Given the description of an element on the screen output the (x, y) to click on. 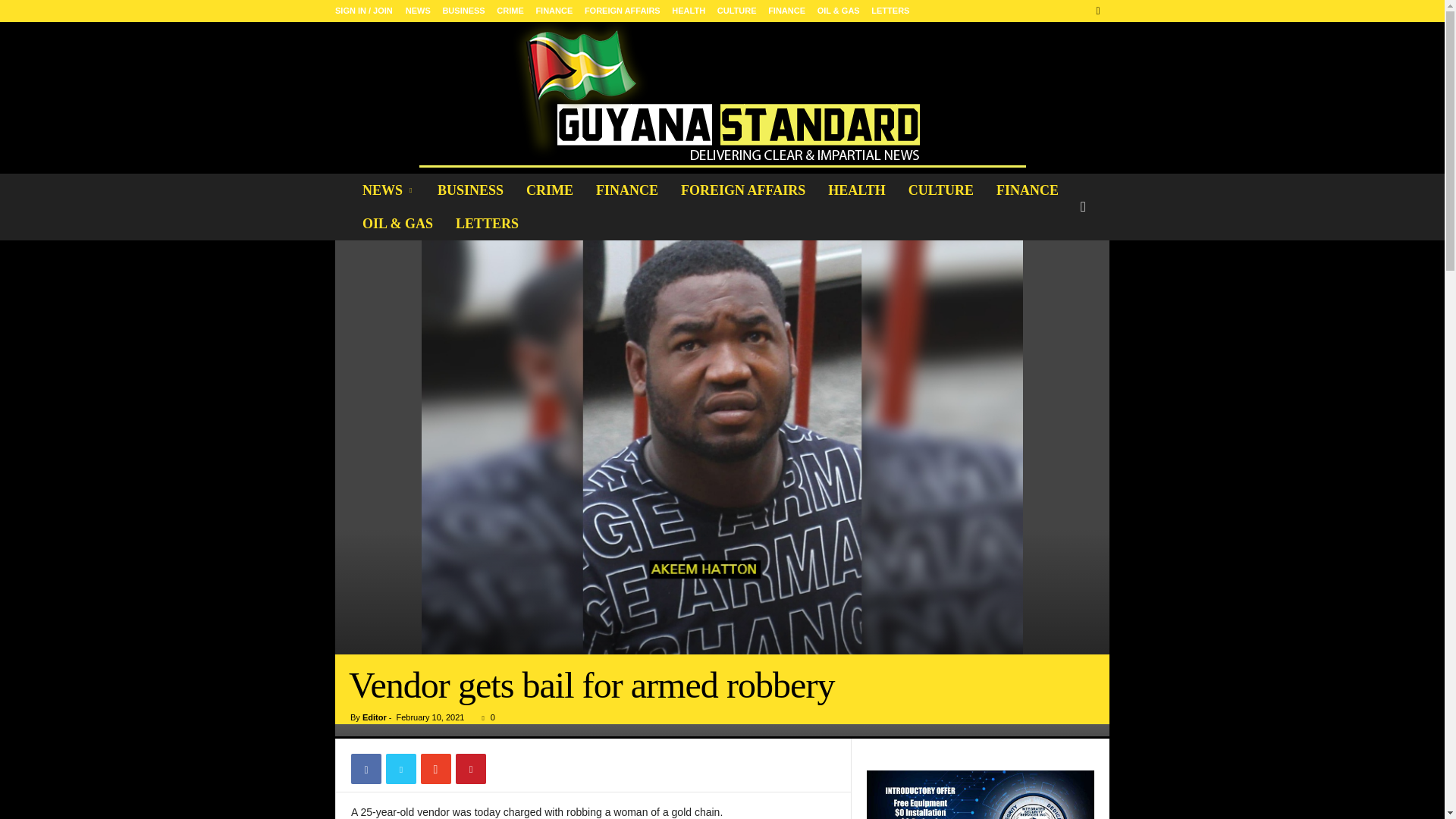
NEWS (418, 10)
